Given the description of an element on the screen output the (x, y) to click on. 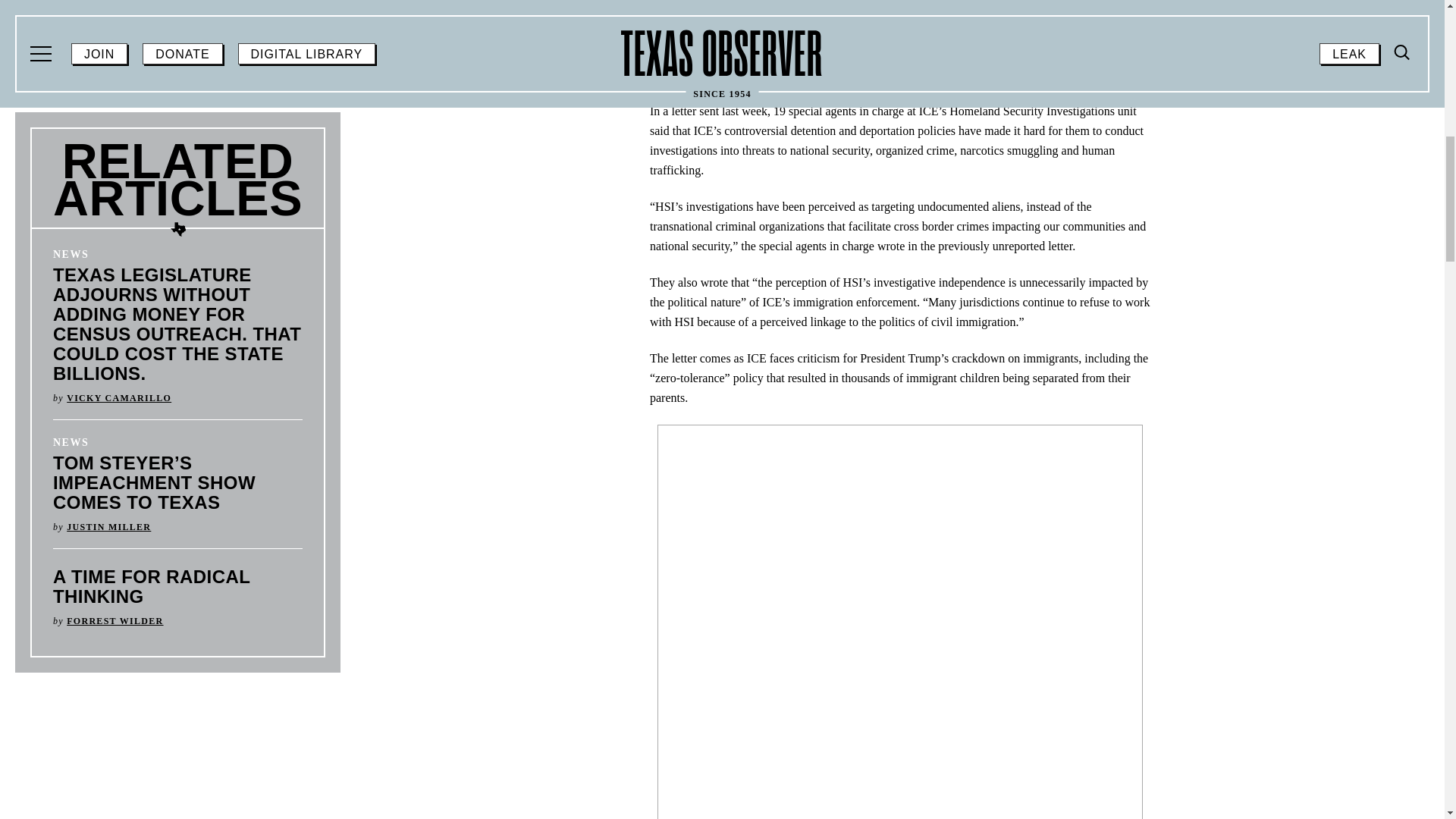
Post by Forrest Wilder (114, 620)
Post by Vicky Camarillo (118, 398)
Post by Justin Miller (108, 526)
